Given the description of an element on the screen output the (x, y) to click on. 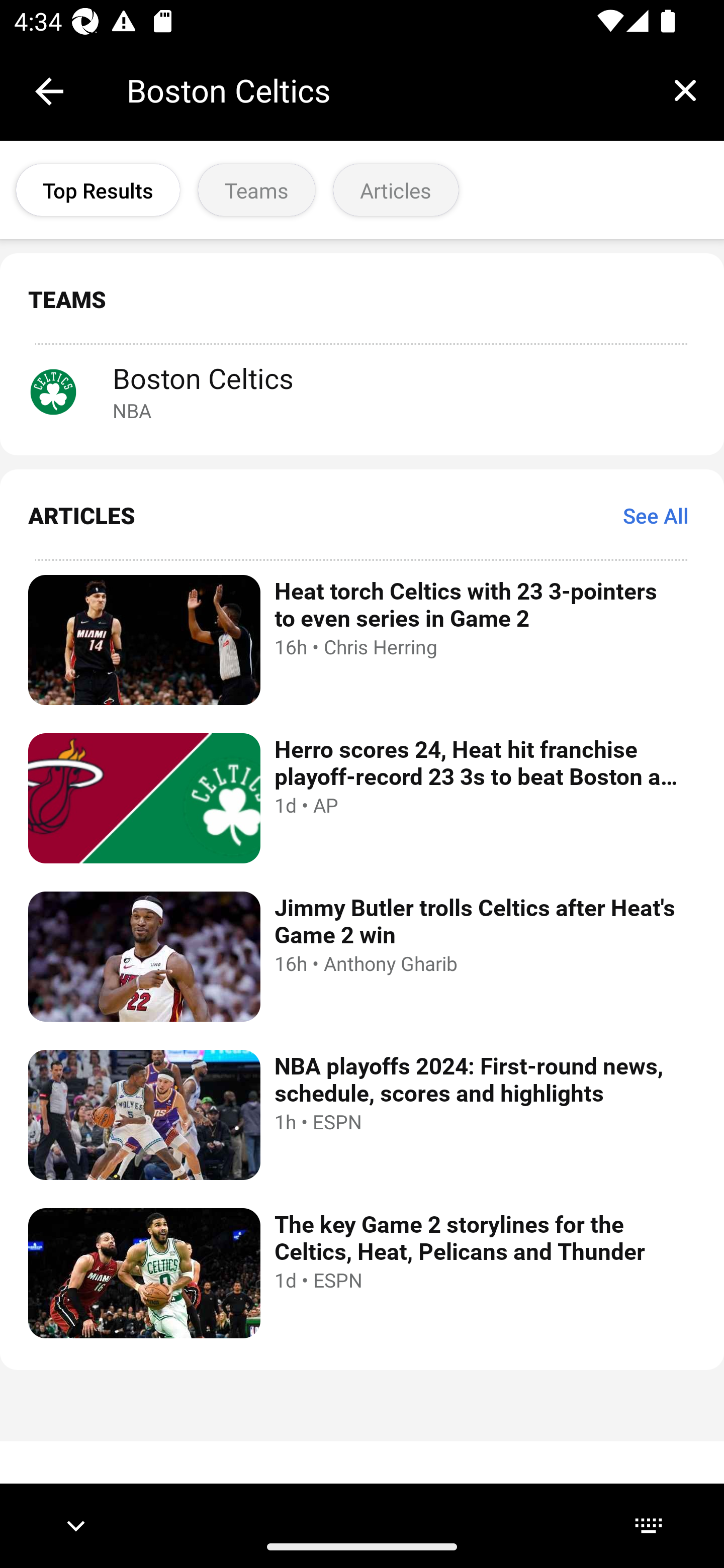
Collapse (49, 91)
Clear query (685, 89)
Boston Celtics (386, 90)
Top Results (97, 190)
Teams (256, 190)
Articles (395, 190)
Boston Celtics : NBA Boston Celtics NBA (362, 390)
See All (655, 514)
